Given the description of an element on the screen output the (x, y) to click on. 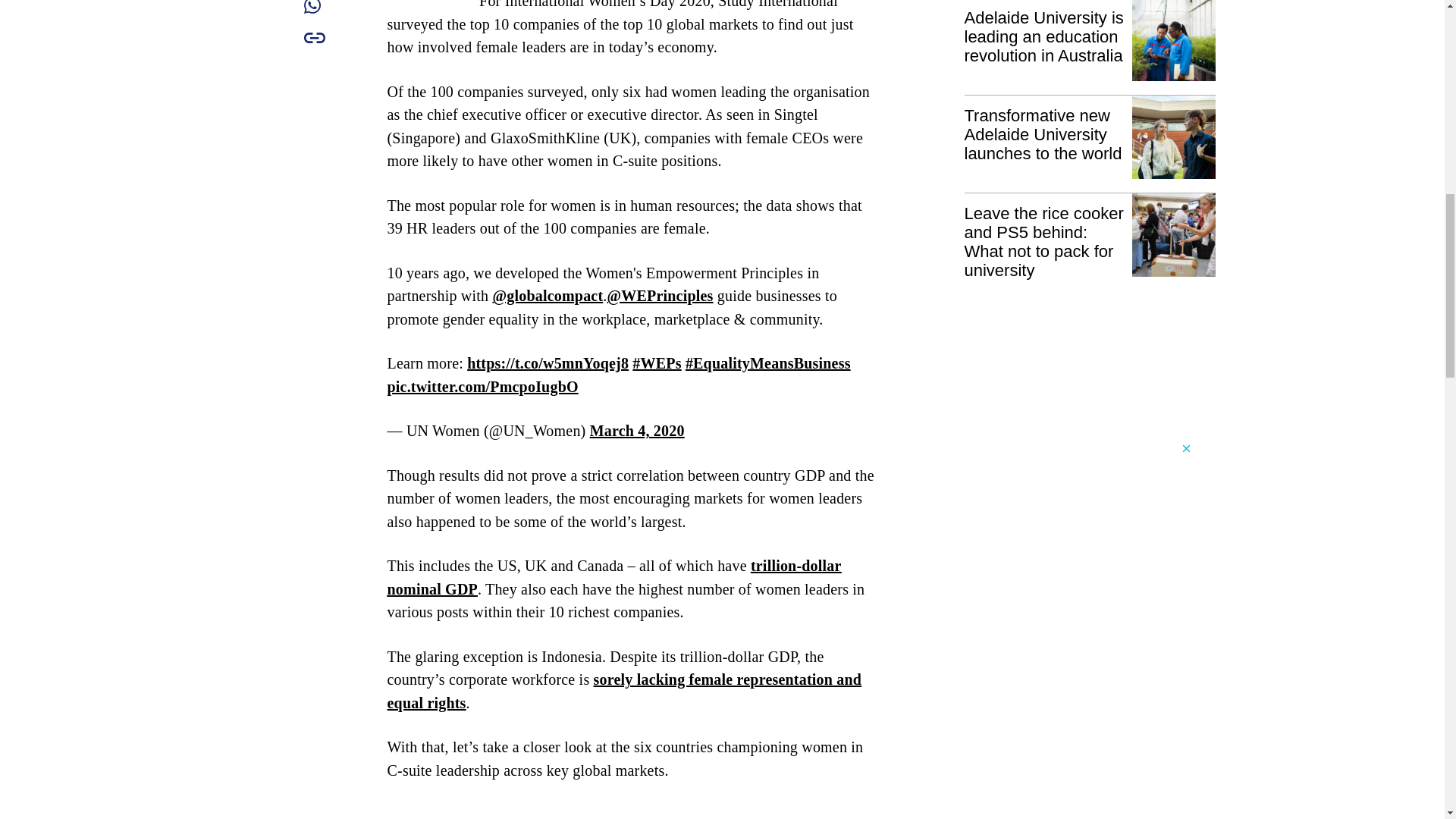
March 4, 2020 (636, 430)
sorely lacking female representation and equal rights (624, 690)
trillion-dollar nominal GDP (614, 577)
